Given the description of an element on the screen output the (x, y) to click on. 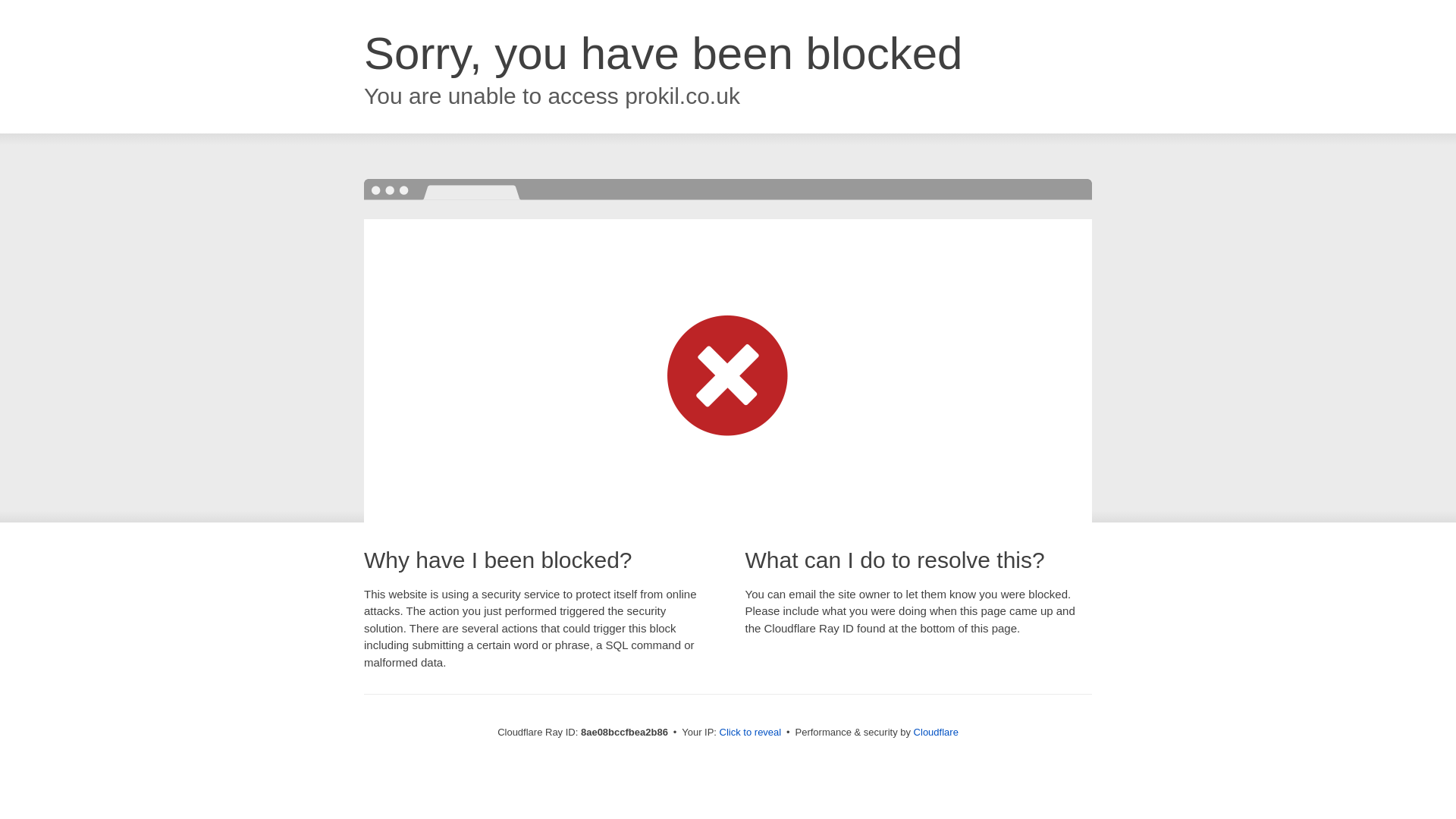
Cloudflare (936, 731)
Click to reveal (750, 732)
